Given the description of an element on the screen output the (x, y) to click on. 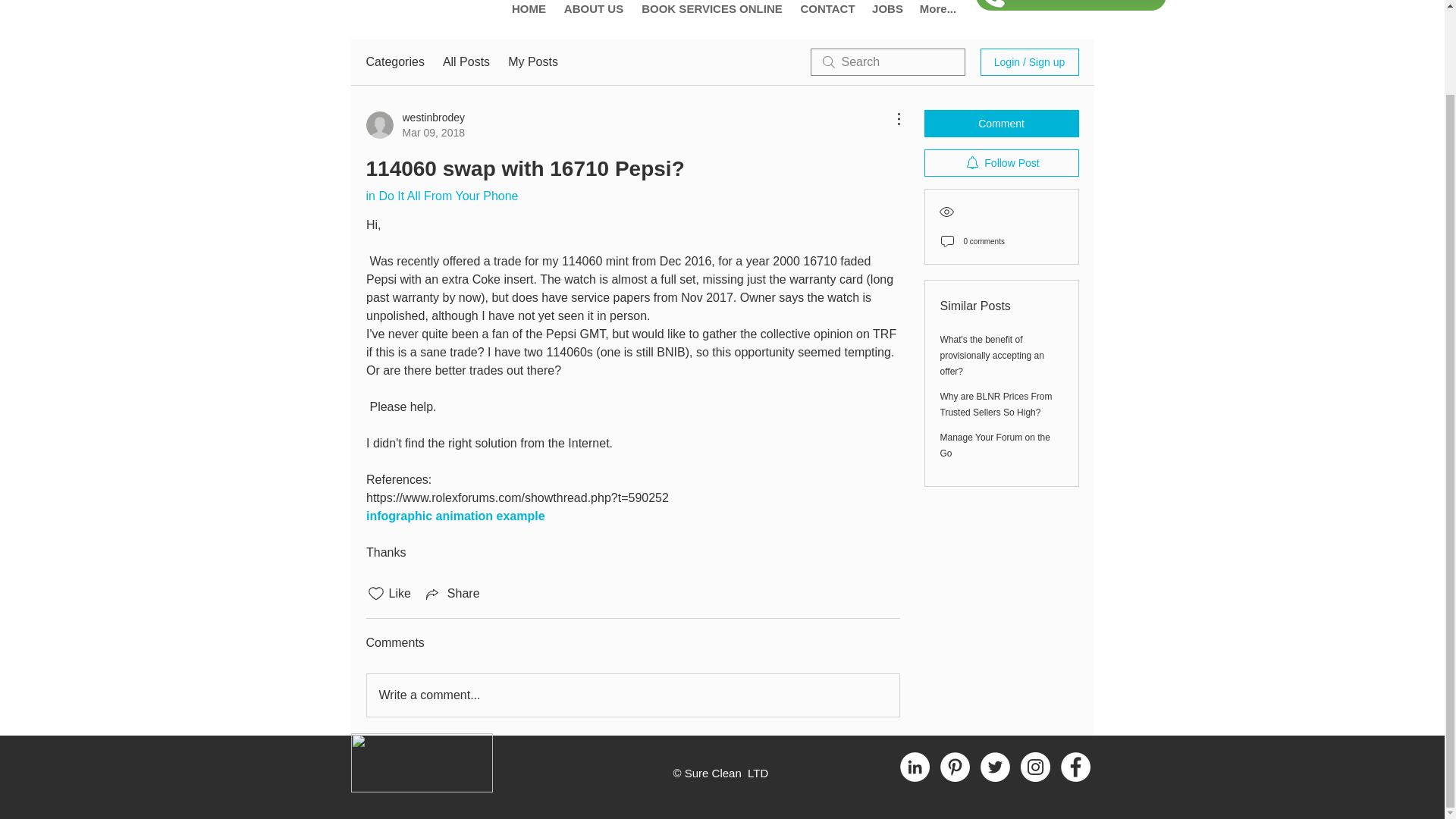
in Do It All From Your Phone (441, 195)
Write a comment... (632, 695)
HOME (528, 15)
CONTACT (827, 15)
Why are BLNR Prices From Trusted Sellers So High? (996, 404)
Comment (1000, 123)
My Posts (532, 62)
Categories (394, 62)
ABOUT US (592, 15)
infographic animation example (454, 515)
